Given the description of an element on the screen output the (x, y) to click on. 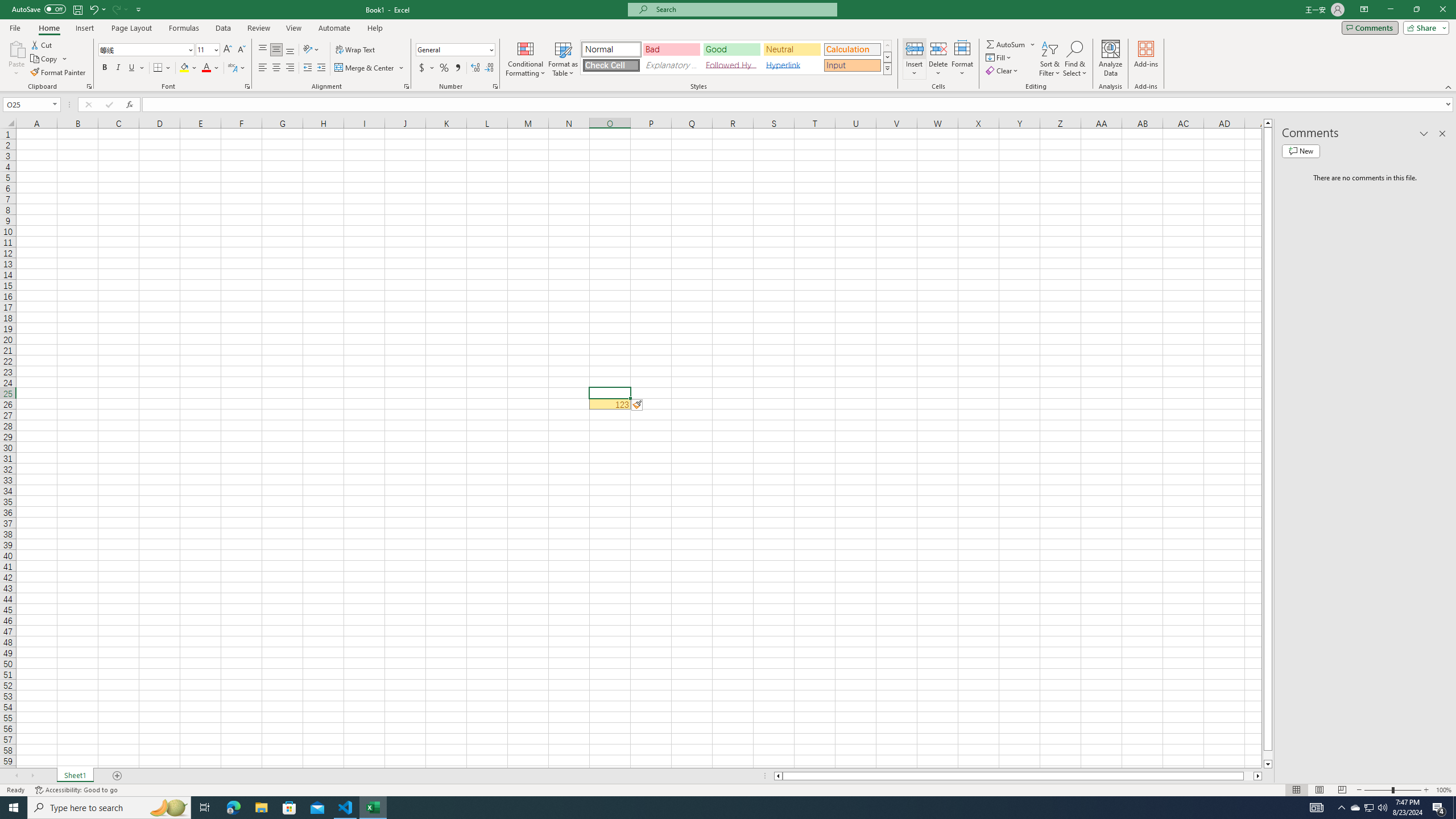
Explanatory Text (671, 65)
Open (54, 104)
Find & Select (1075, 58)
Sheet1 (74, 775)
Collapse the Ribbon (1448, 86)
Comma Style (457, 67)
Page Break Preview (1342, 790)
Class: MsoCommandBar (728, 45)
Merge & Center (369, 67)
Neutral (791, 49)
Format Cell Font (247, 85)
Decrease Indent (307, 67)
Font Size (207, 49)
Clear (1003, 69)
Customize Quick Access Toolbar (139, 9)
